Given the description of an element on the screen output the (x, y) to click on. 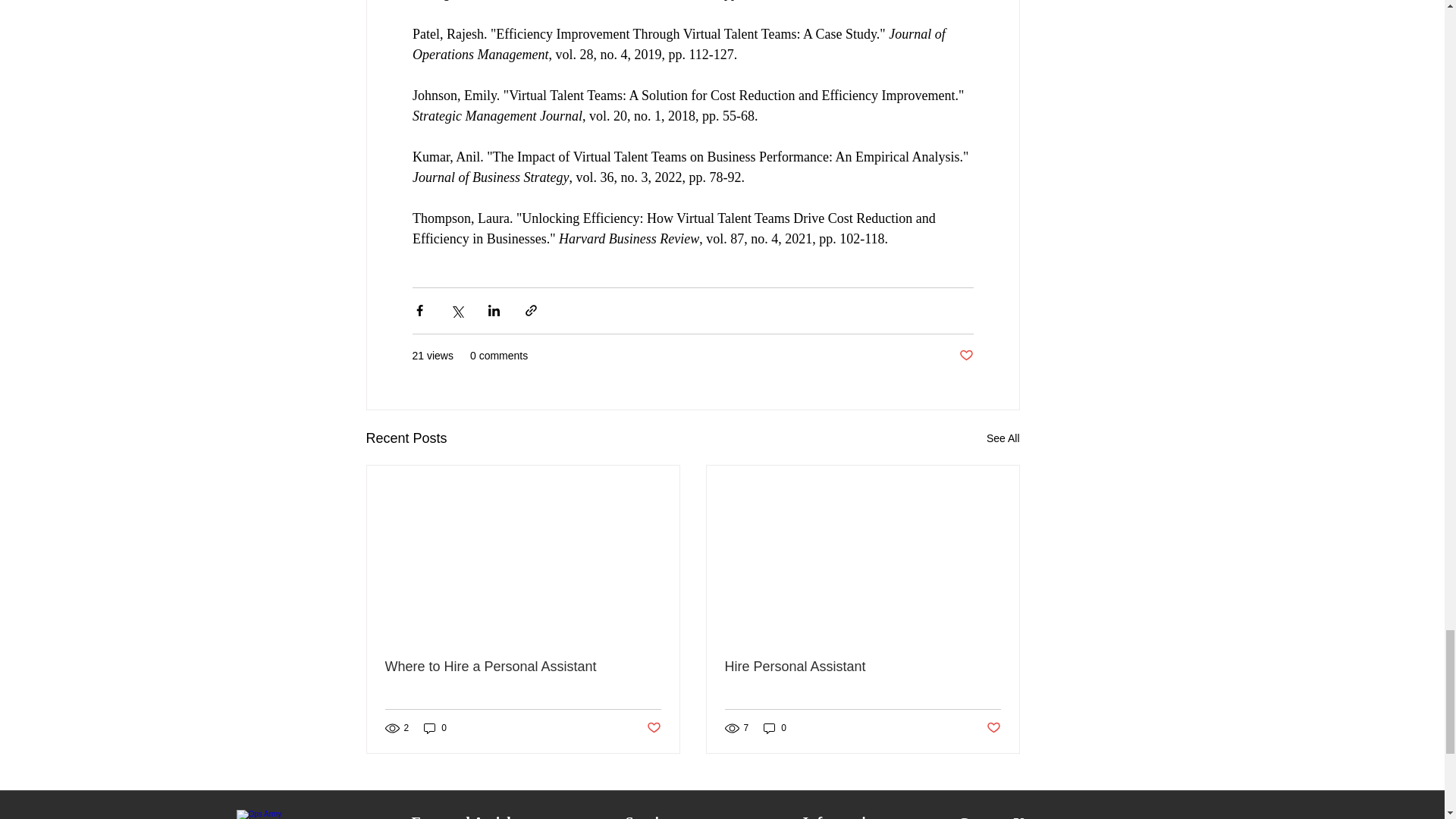
Post not marked as liked (992, 728)
0 (435, 728)
0 (774, 728)
Post not marked as liked (653, 728)
See All (1003, 438)
Where to Hire a Personal Assistant (523, 666)
Hire Personal Assistant (863, 666)
Post not marked as liked (965, 355)
